Given the description of an element on the screen output the (x, y) to click on. 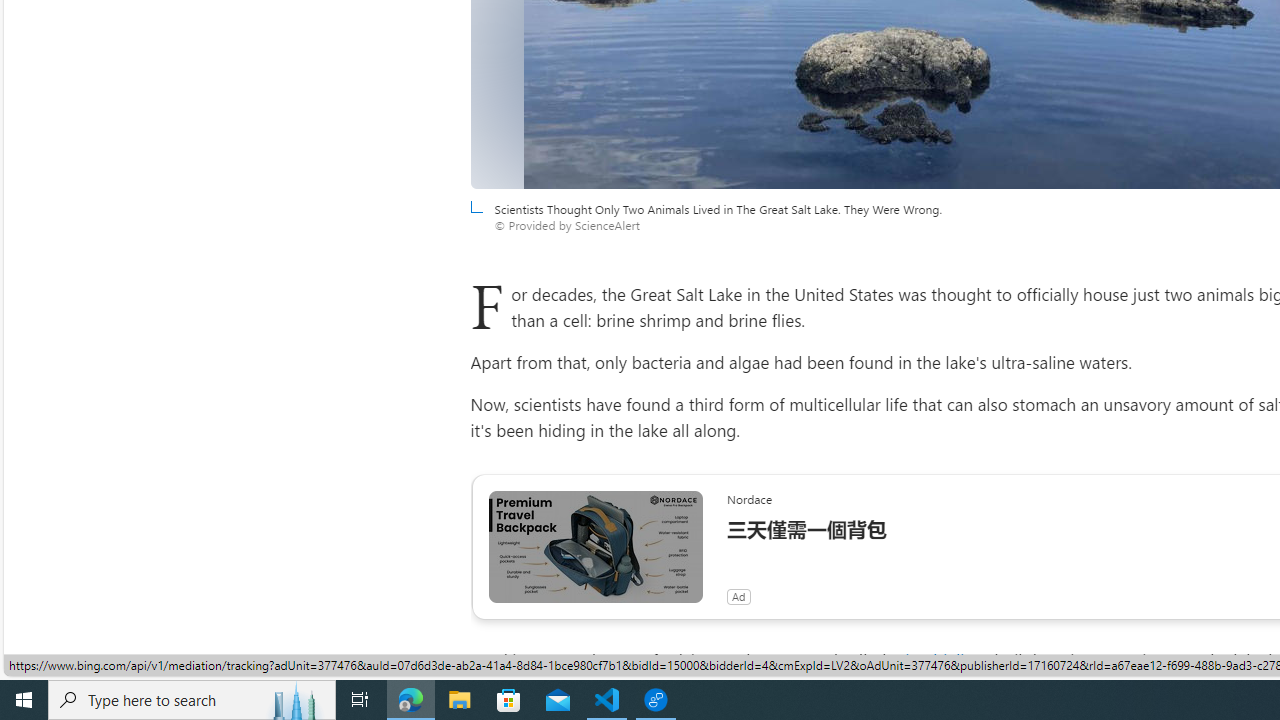
microbialites (937, 659)
Ad (738, 596)
